Given the description of an element on the screen output the (x, y) to click on. 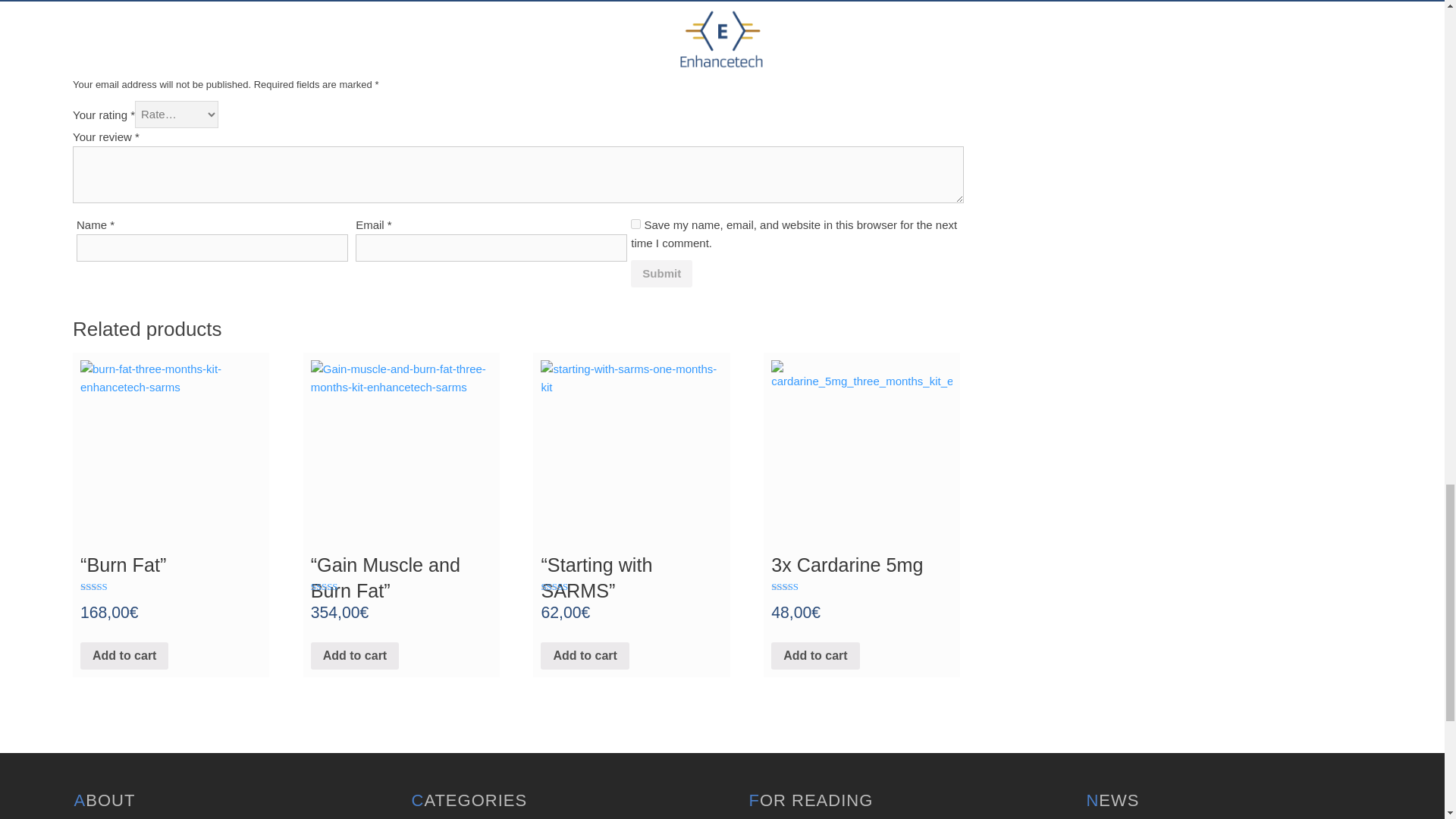
yes (635, 224)
Submit (661, 273)
Submit (661, 273)
Add to cart (354, 655)
Add to cart (815, 655)
Add to cart (124, 655)
Add to cart (584, 655)
